Given the description of an element on the screen output the (x, y) to click on. 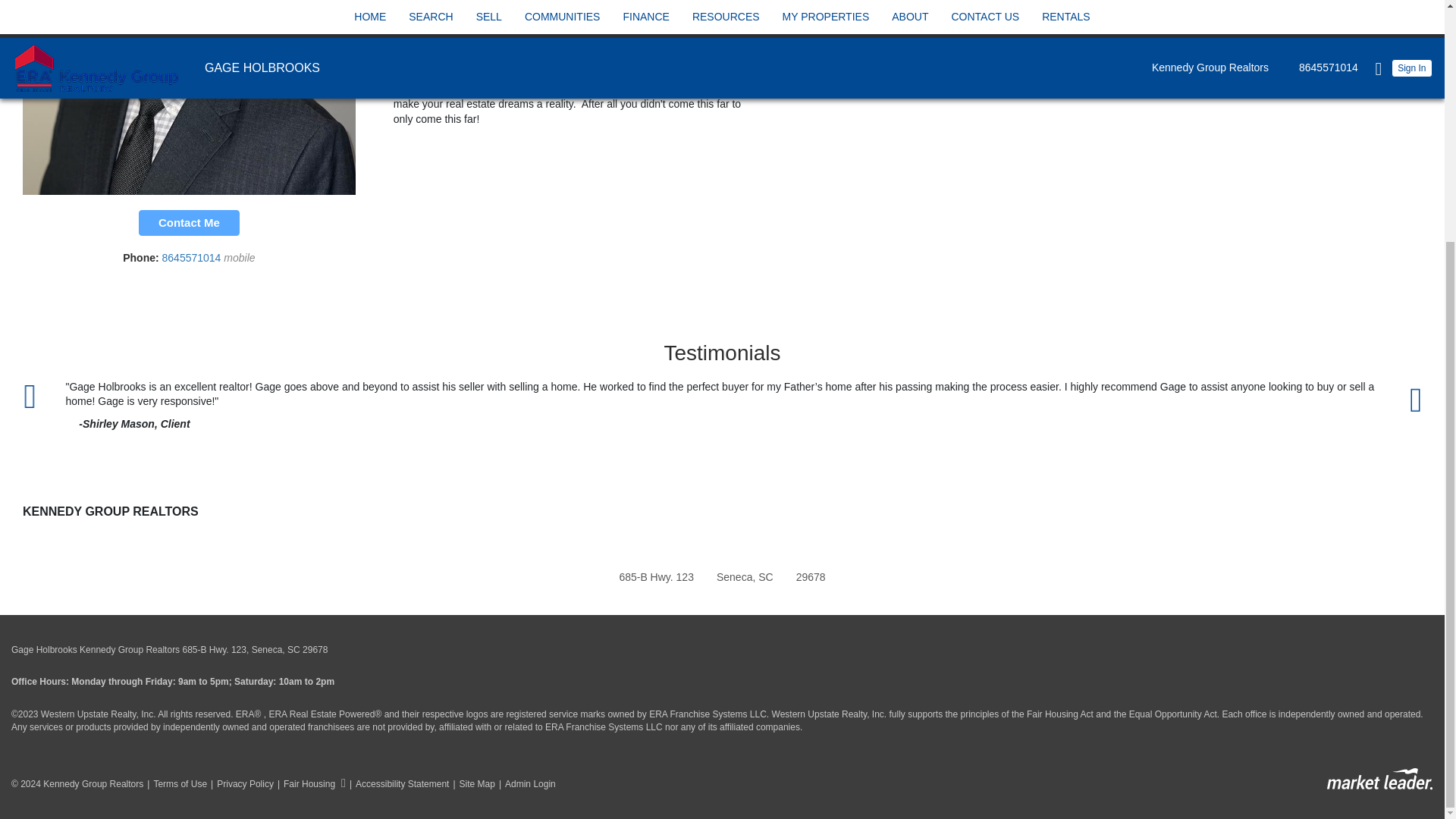
8645571014 (192, 257)
Powered By Market Leader (1379, 779)
Accessibility Statement (397, 784)
Site Map (471, 784)
Admin Login (525, 784)
Contact Me (189, 222)
Privacy Policy (239, 784)
Fair Housing (309, 784)
Terms of Use (174, 784)
